Given the description of an element on the screen output the (x, y) to click on. 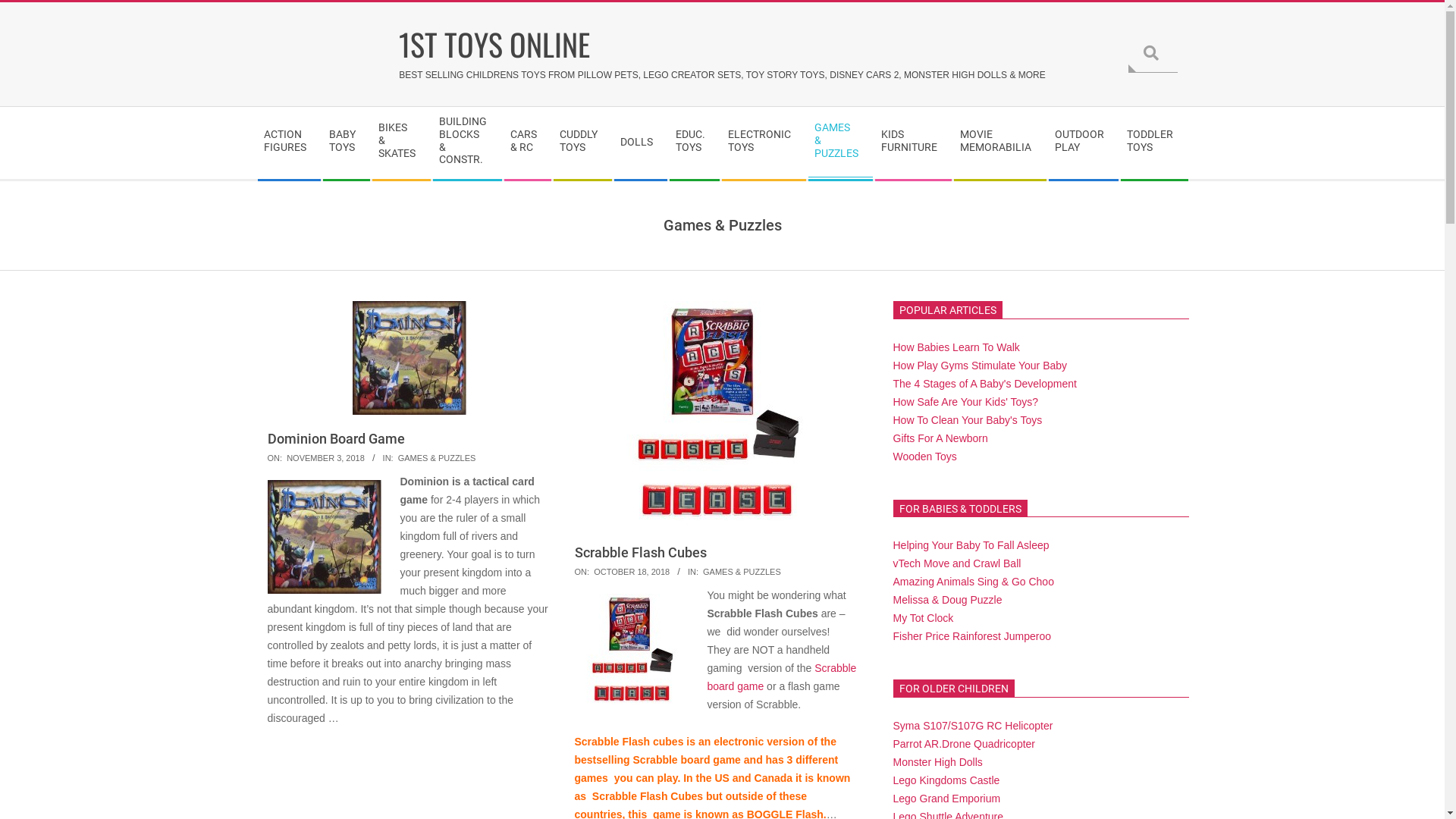
Wooden Toys Element type: text (925, 456)
Parrot AR.Drone Quadricopter Element type: text (964, 743)
KIDS FURNITURE Element type: text (912, 142)
1ST TOYS ONLINE Element type: text (721, 43)
Dominion Board Game Element type: text (335, 438)
Scrabble board game Element type: text (781, 677)
DOLLS Element type: text (640, 142)
The 4 Stages of A Baby's Development Element type: text (984, 383)
Scrabble Flash Cubes Element type: hover (631, 650)
Fisher Price Rainforest Jumperoo Element type: text (972, 636)
Lego Grand Emporium Element type: text (947, 798)
BUILDING BLOCKS & CONSTR. Element type: text (466, 142)
My Tot Clock Element type: text (923, 617)
Scrabble Flash Cubes Element type: text (640, 552)
GAMES & PUZZLES Element type: text (741, 571)
vTech Move and Crawl Ball Element type: text (957, 563)
TODDLER TOYS Element type: text (1153, 142)
Melissa & Doug Puzzle Element type: text (947, 599)
Syma S107/S107G RC Helicopter Element type: text (973, 725)
How Safe Are Your Kids' Toys? Element type: text (965, 401)
ELECTRONIC TOYS Element type: text (763, 142)
BIKES & SKATES Element type: text (400, 142)
Lego Kingdoms Castle Element type: text (946, 780)
CARS & RC Element type: text (527, 142)
MOVIE MEMORABILIA Element type: text (999, 142)
BABY TOYS Element type: text (345, 142)
How Babies Learn To Walk Element type: text (956, 347)
ACTION FIGURES Element type: text (288, 142)
How Play Gyms Stimulate Your Baby Element type: text (980, 365)
Monster High Dolls Element type: text (937, 762)
Amazing Animals Sing & Go Choo Element type: text (973, 581)
GAMES & PUZZLES Element type: text (437, 457)
CUDDLY TOYS Element type: text (582, 142)
OUTDOOR PLAY Element type: text (1083, 142)
GAMES & PUZZLES Element type: text (839, 142)
EDUC. TOYS Element type: text (694, 142)
Dominion Board Game Element type: hover (323, 536)
Helping Your Baby To Fall Asleep Element type: text (971, 545)
Gifts For A Newborn Element type: text (940, 438)
How To Clean Your Baby's Toys Element type: text (967, 420)
